Given the description of an element on the screen output the (x, y) to click on. 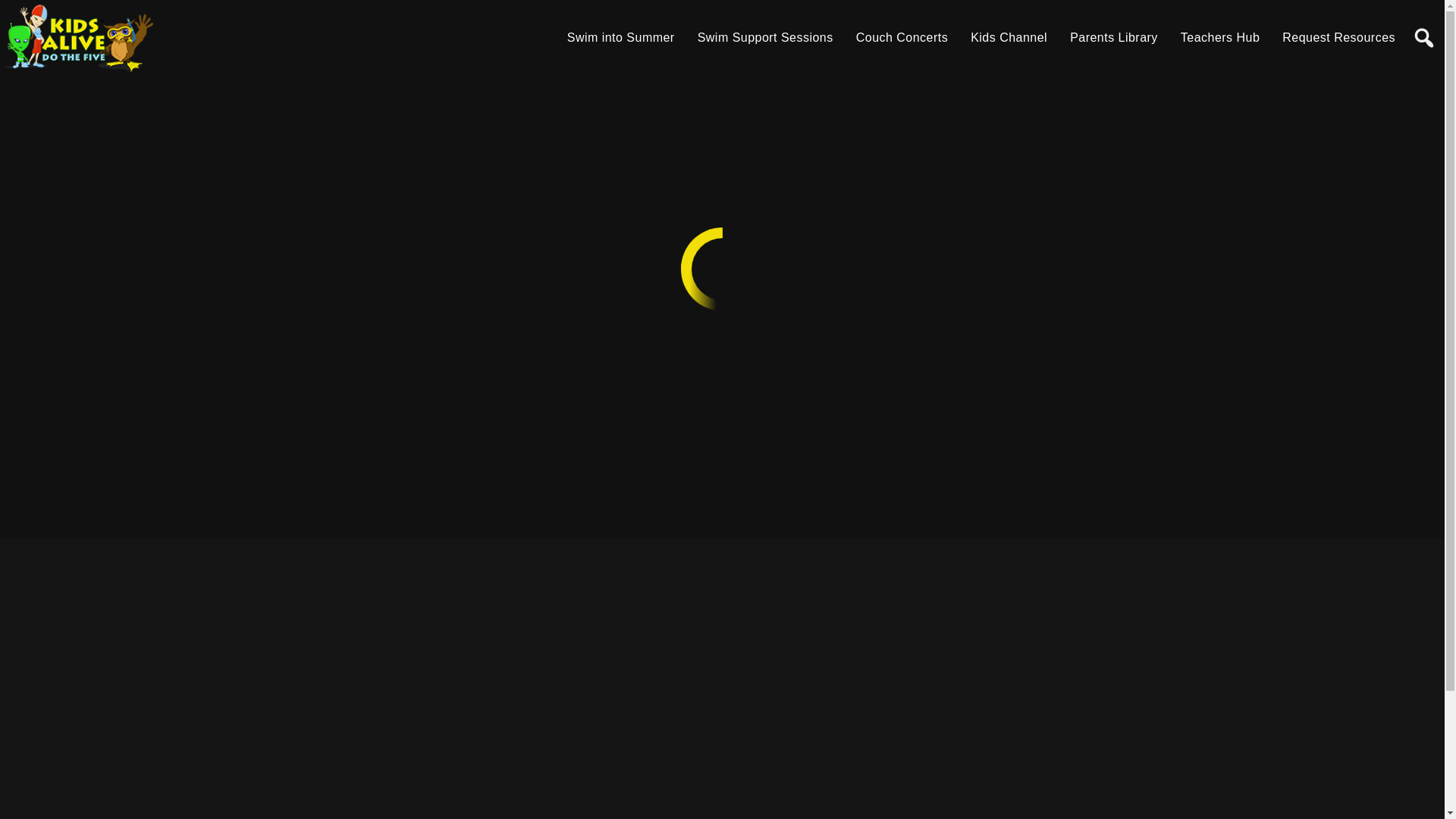
Swim into Summer Element type: text (620, 37)
Parents Library Element type: text (1113, 37)
Teachers Hub Element type: text (1219, 37)
Kids Channel Element type: text (1008, 37)
Couch Concerts Element type: text (901, 37)
Swim Support Sessions Element type: text (765, 37)
Request Resources Element type: text (1338, 37)
